Given the description of an element on the screen output the (x, y) to click on. 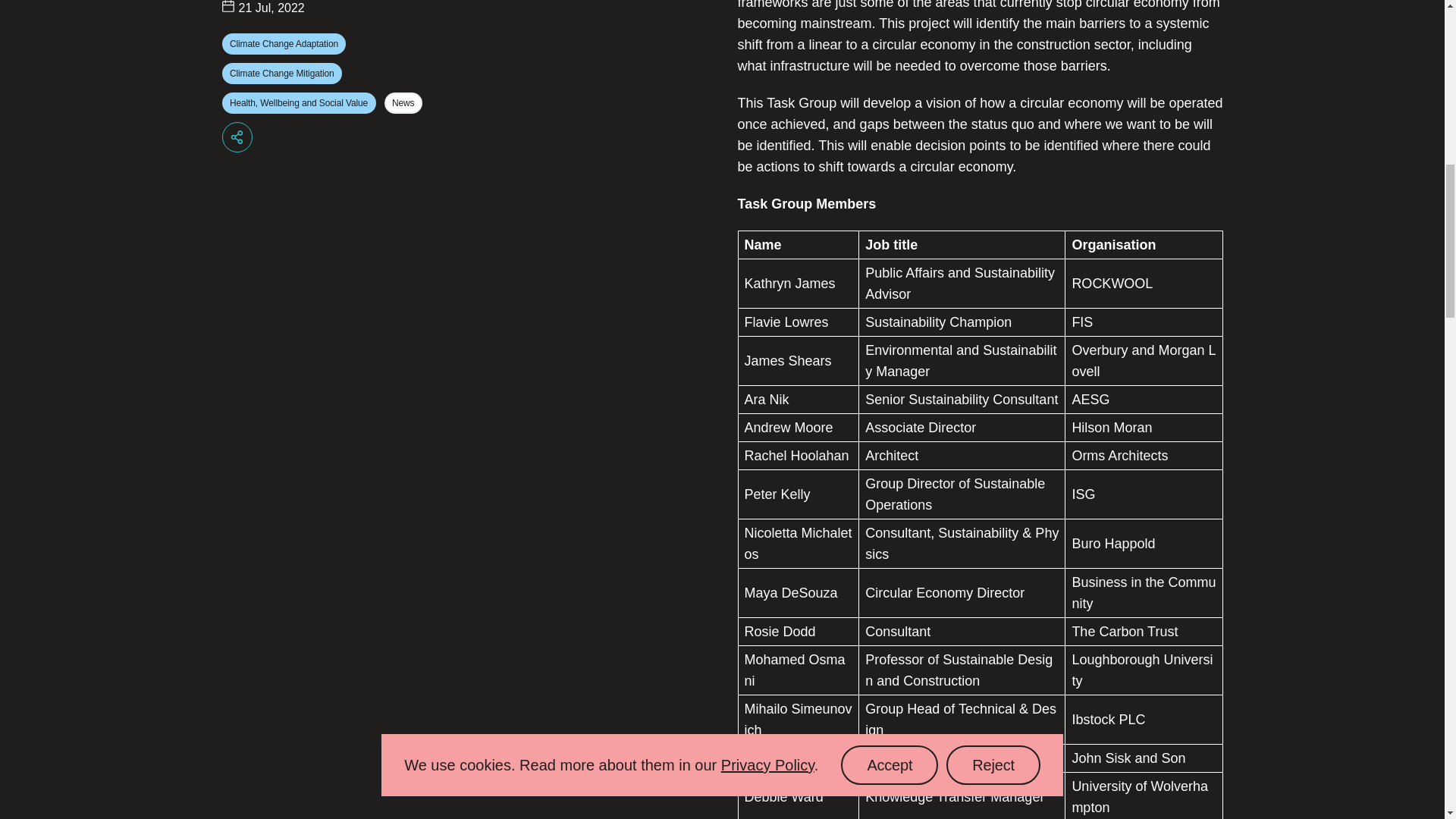
News (403, 102)
Health, Wellbeing and Social Value (298, 102)
Climate Change Adaptation (283, 43)
Share (236, 137)
Climate Change Mitigation (281, 73)
